Given the description of an element on the screen output the (x, y) to click on. 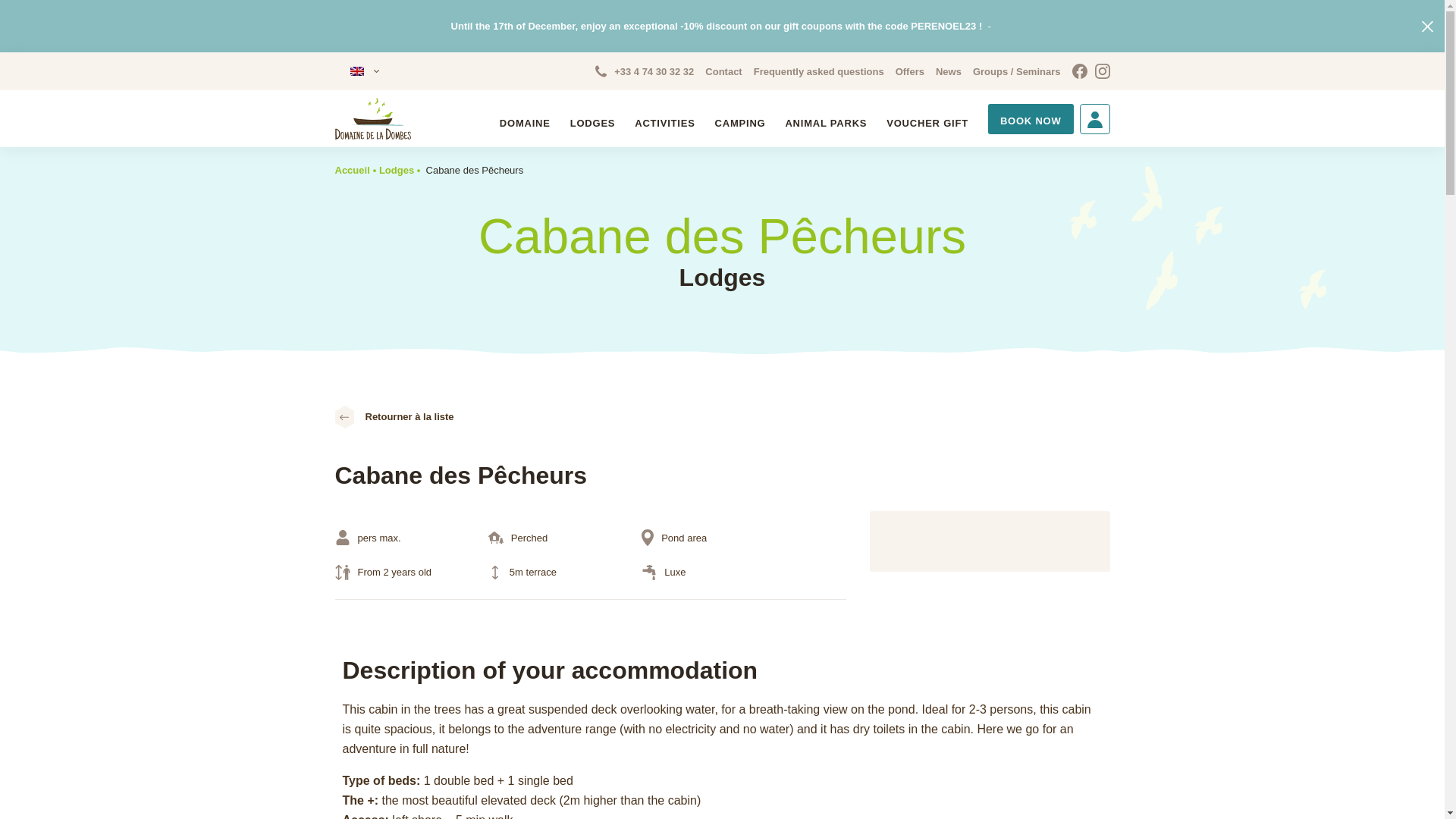
Frequently asked questions (818, 71)
DOMAINE (524, 123)
Visitez notre page Facebook. Ouverture dans un nouvel onglet (1079, 70)
Offers (909, 71)
ACTIVITIES (664, 123)
News (948, 71)
VOUCHER GIFT (927, 123)
Visitez notre Instagram. Ouverture dans un nouvel onglet (1101, 70)
BOOK NOW (1031, 121)
Accueil (351, 170)
LODGES (592, 123)
CAMPING (739, 123)
Contact (722, 71)
ANIMAL PARKS (825, 123)
